Given the description of an element on the screen output the (x, y) to click on. 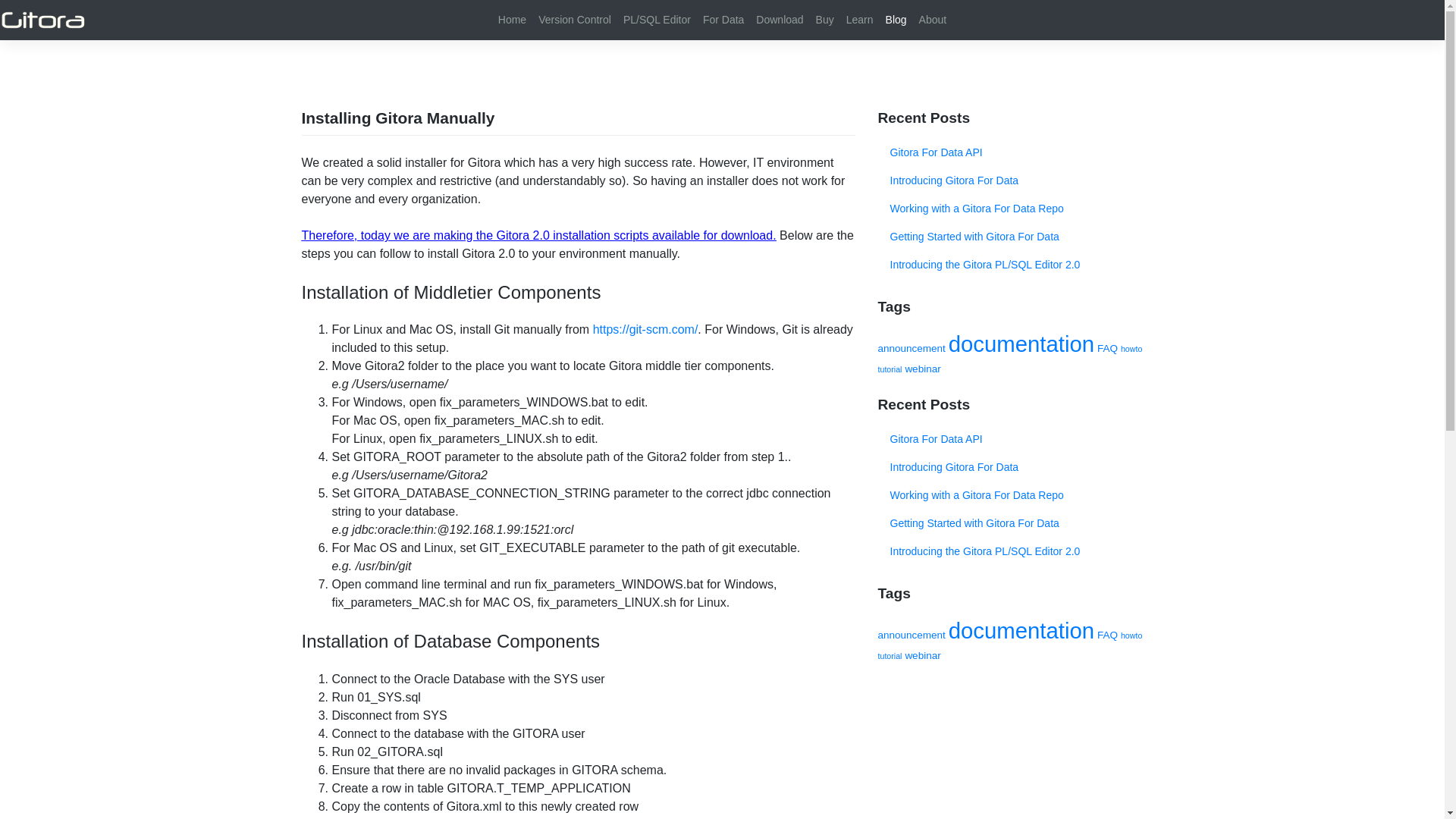
Buy (824, 19)
For Data (723, 19)
Introducing Gitora For Data (1009, 467)
Getting Started with Gitora For Data (1009, 236)
announcement (910, 348)
Download (779, 19)
Blog (895, 19)
Working with a Gitora For Data Repo (1009, 495)
Working with a Gitora For Data Repo (1009, 208)
Gitora For Data API (1009, 439)
howto (1131, 634)
FAQ (1107, 348)
documentation (1021, 343)
Gitora For Data API (1009, 152)
documentation (1021, 630)
